Given the description of an element on the screen output the (x, y) to click on. 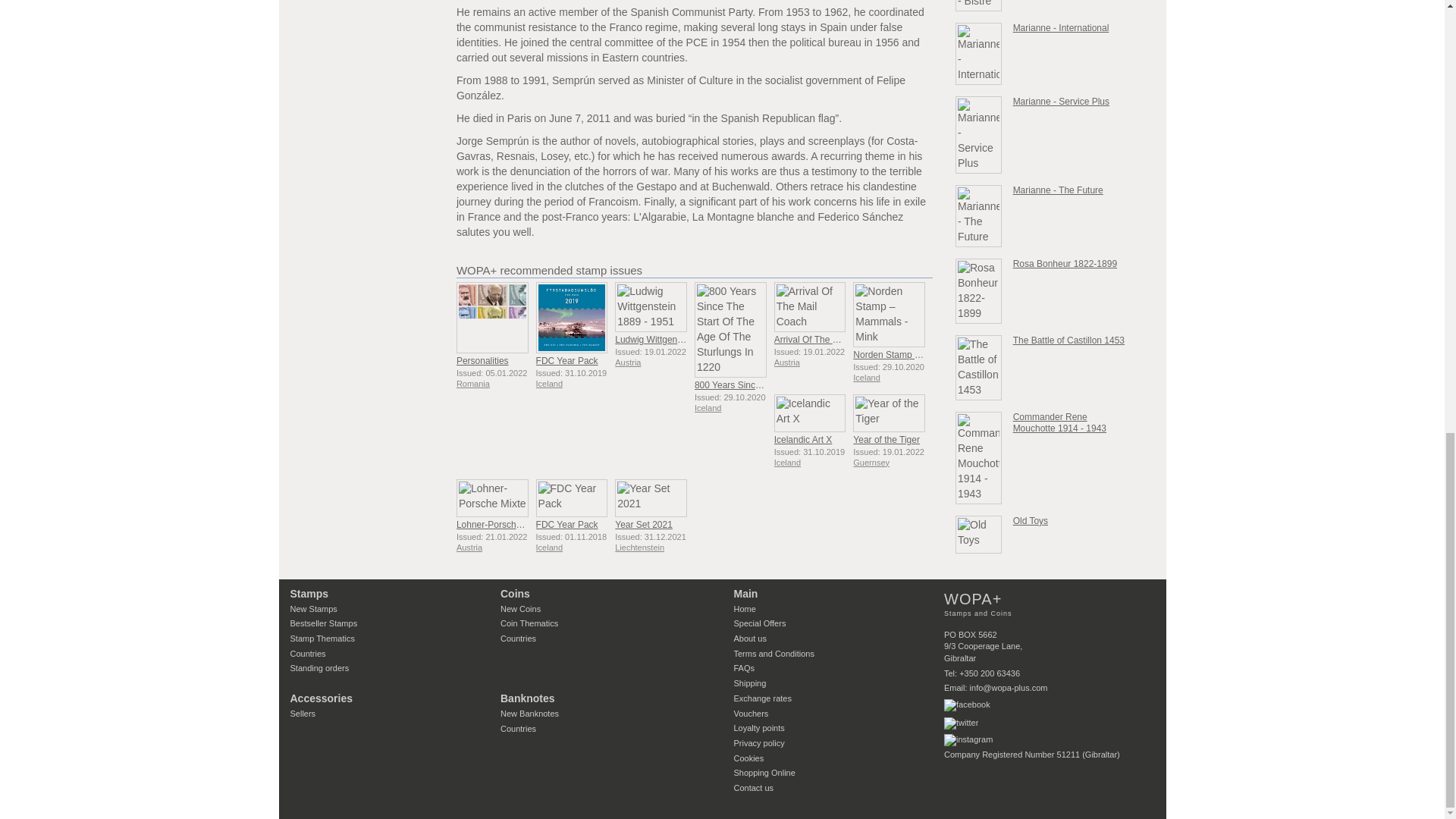
Personalities (492, 317)
Personalities (482, 360)
